Given the description of an element on the screen output the (x, y) to click on. 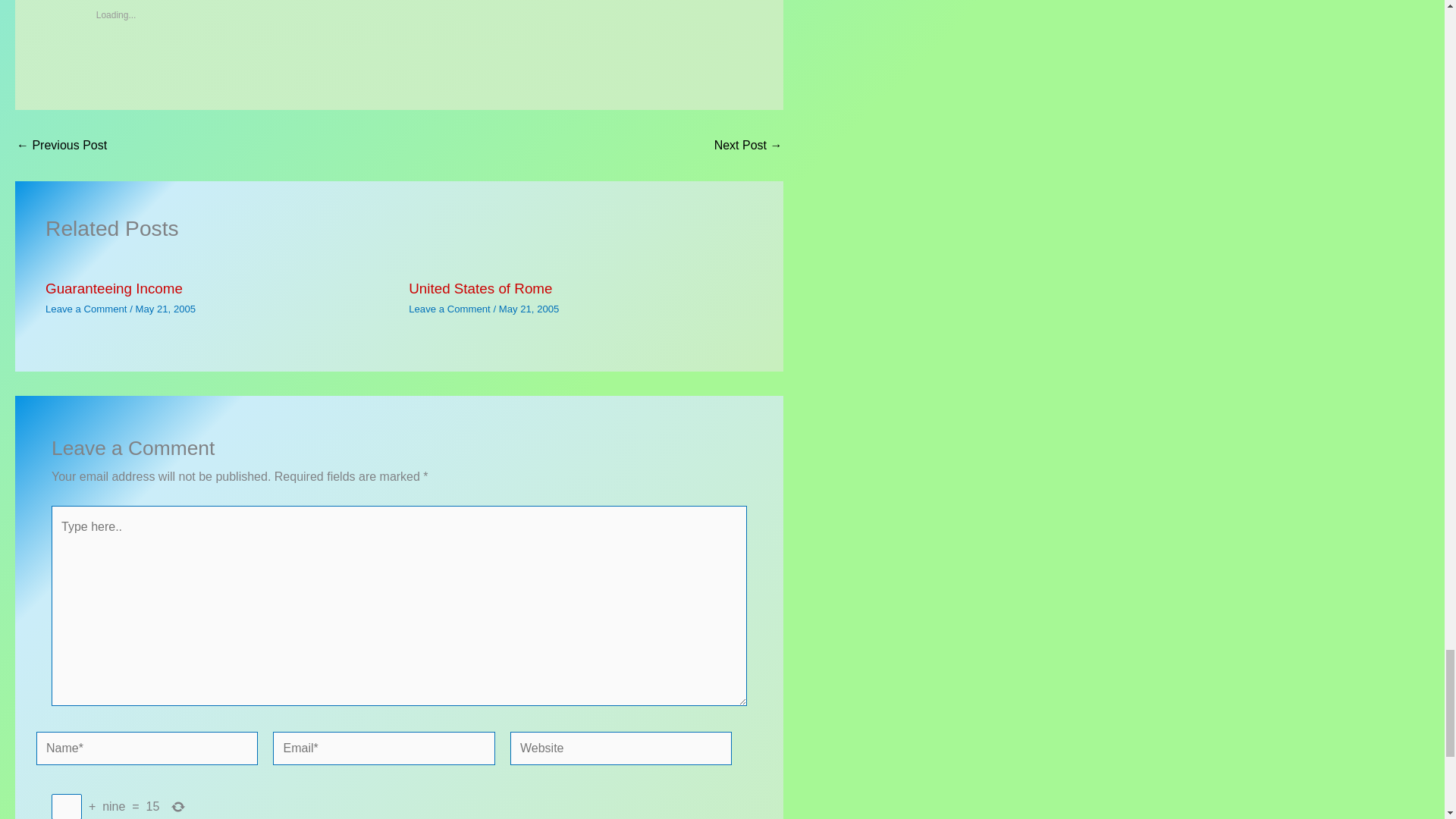
Coping with the War Climate (61, 145)
